Given the description of an element on the screen output the (x, y) to click on. 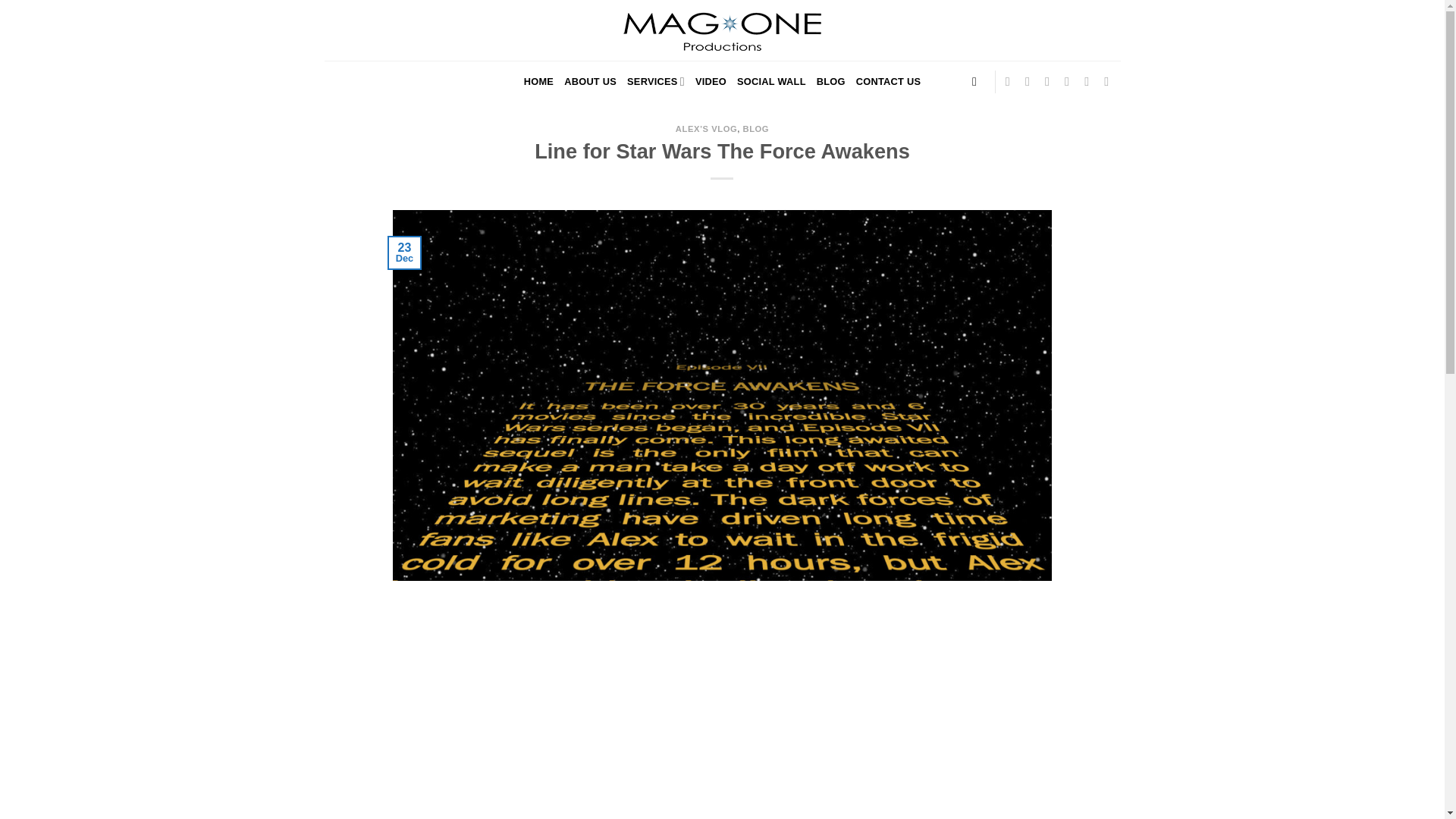
Call us (1090, 80)
ABOUT US (589, 81)
SERVICES (655, 81)
Follow on YouTube (1109, 80)
CONTACT US (888, 81)
SOCIAL WALL (771, 81)
BLOG (756, 128)
